Given the description of an element on the screen output the (x, y) to click on. 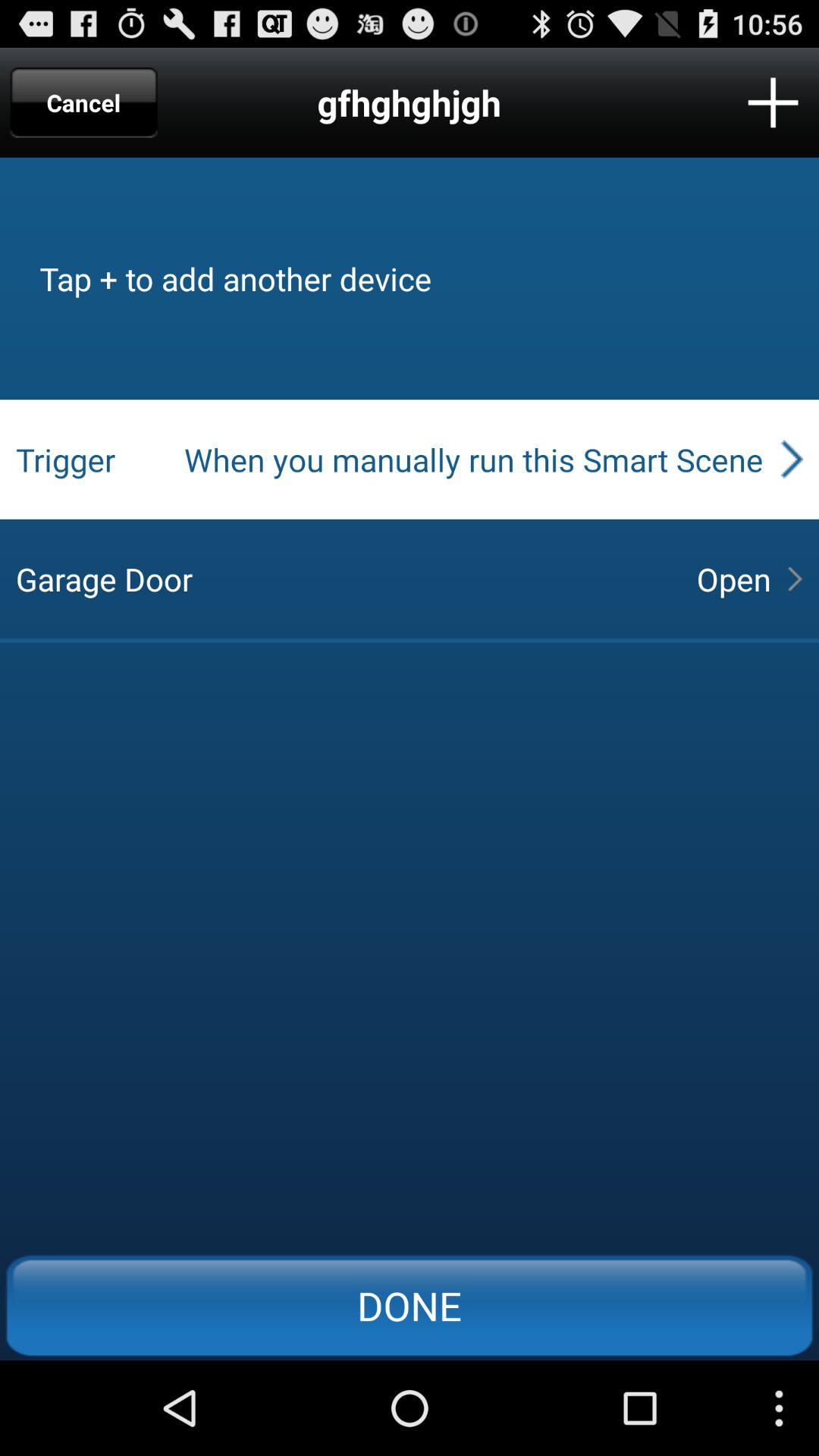
select the item below when you manually item (733, 578)
